Given the description of an element on the screen output the (x, y) to click on. 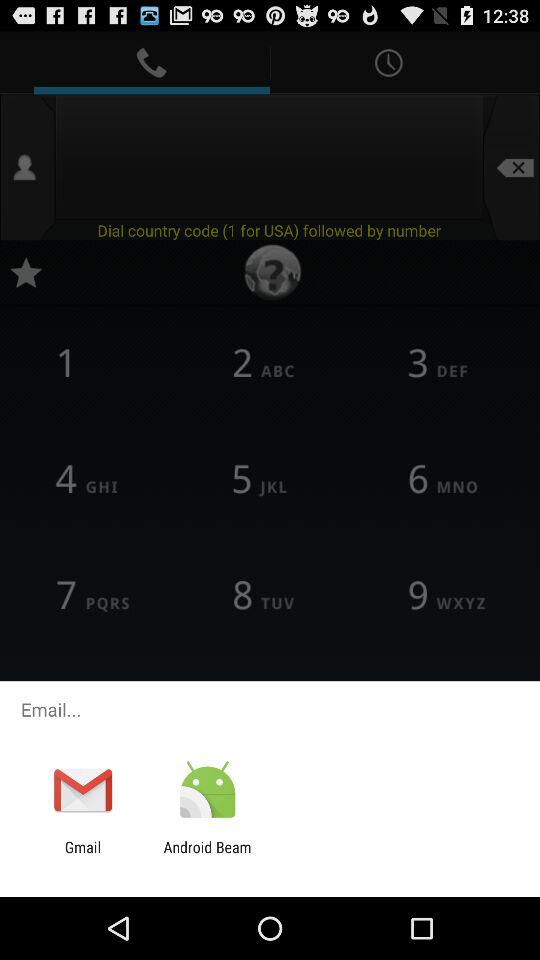
click gmail app (82, 856)
